Given the description of an element on the screen output the (x, y) to click on. 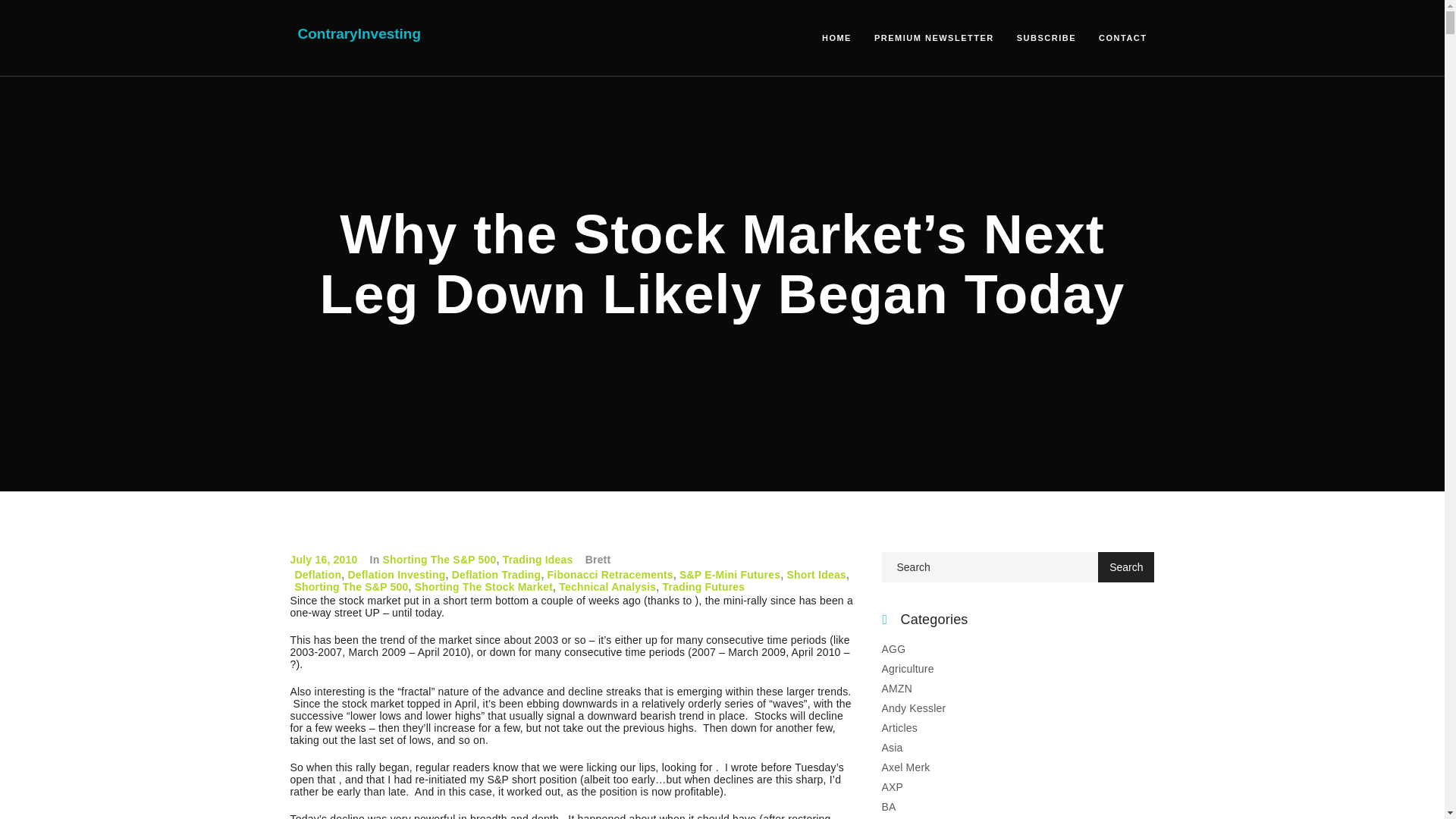
Premium Newsletter (934, 37)
PREMIUM NEWSLETTER (934, 37)
Trading Ideas (537, 559)
SUBSCRIBE (1046, 37)
HOME (836, 37)
Contact (1122, 37)
Deflation Investing (396, 574)
Search (1125, 567)
Subscribe (1046, 37)
Agriculture (906, 668)
